Given the description of an element on the screen output the (x, y) to click on. 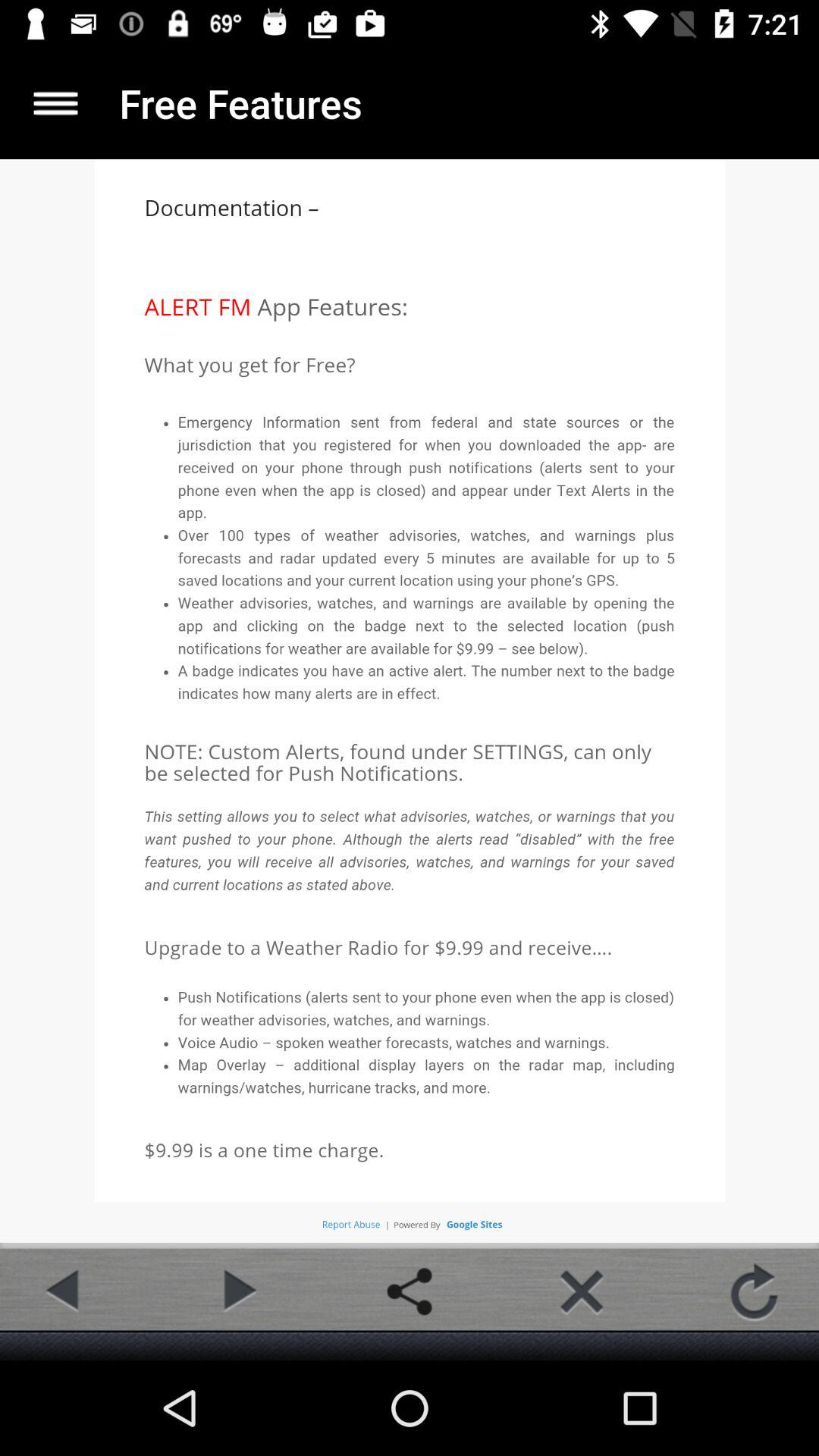
go to previous (64, 1291)
